Given the description of an element on the screen output the (x, y) to click on. 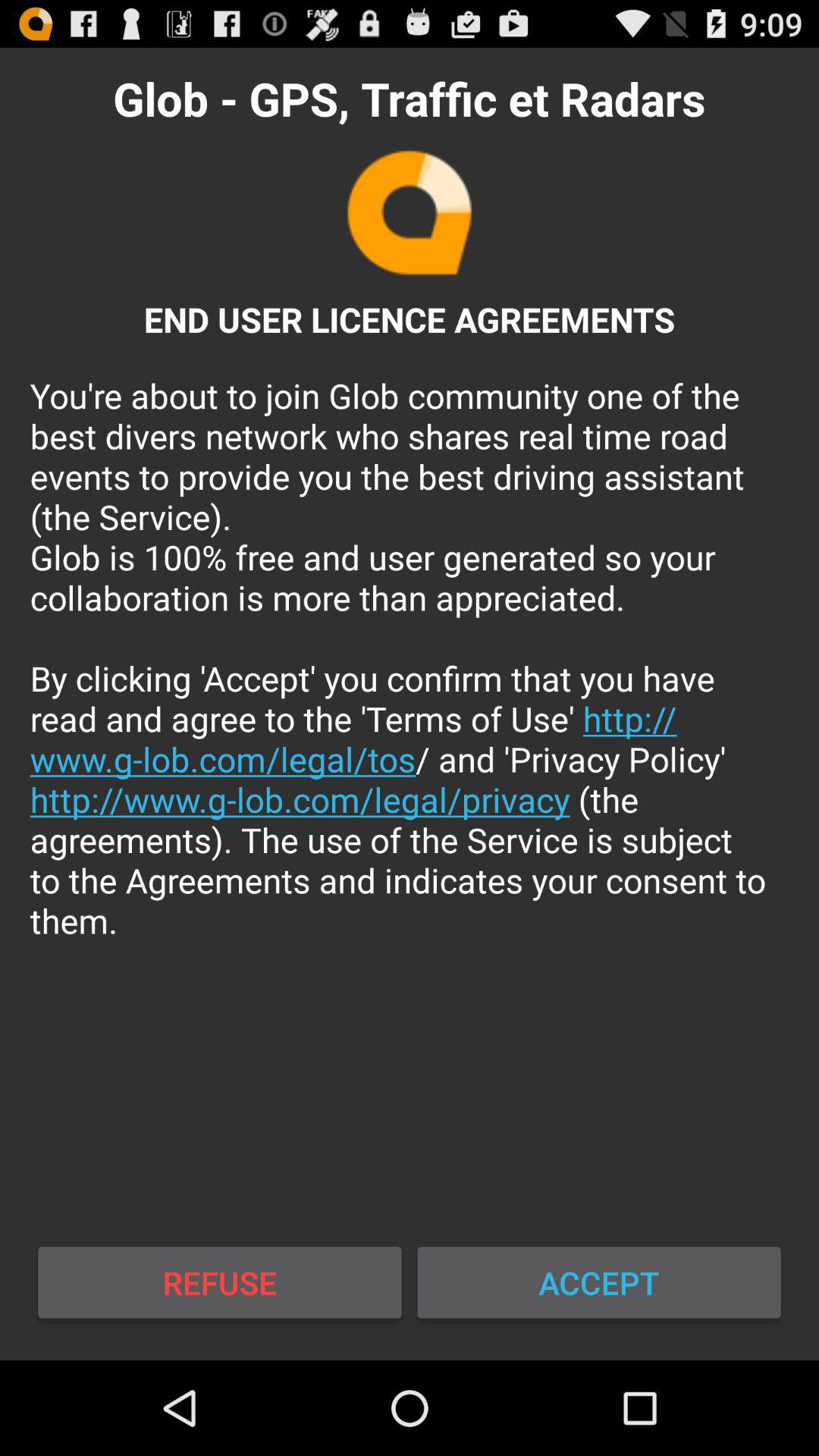
flip to the refuse button (219, 1282)
